Given the description of an element on the screen output the (x, y) to click on. 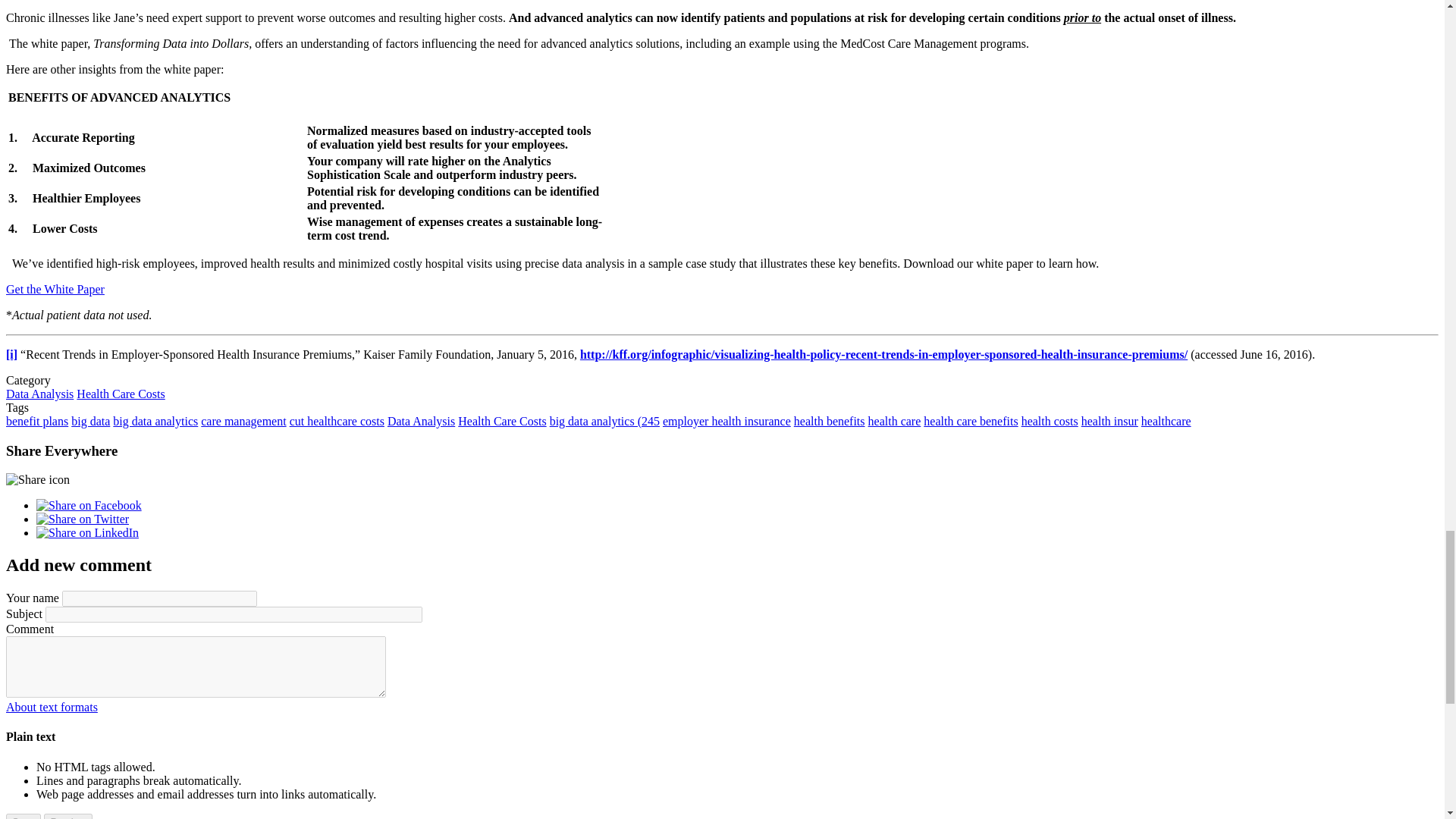
Save (22, 816)
Share on Facebook (88, 505)
Share on Twitter (82, 519)
Share on LinkedIn (87, 532)
Preview (67, 816)
